Given the description of an element on the screen output the (x, y) to click on. 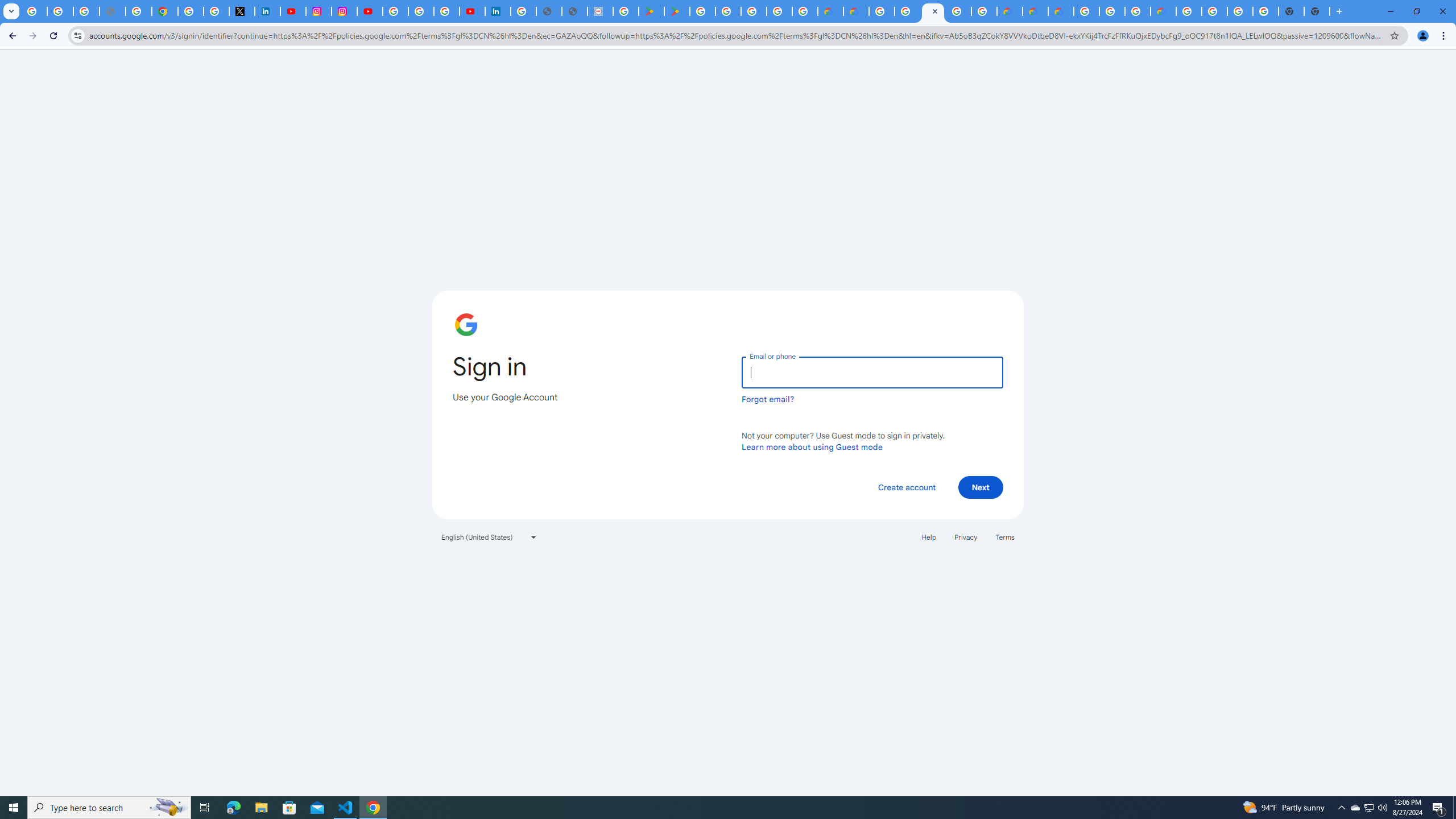
Email or phone (871, 372)
LinkedIn Privacy Policy (266, 11)
Google Workspace - Specific Terms (804, 11)
Google Cloud Service Health (1162, 11)
Google Cloud Platform (1188, 11)
Android Apps on Google Play (651, 11)
Google Workspace - Specific Terms (779, 11)
Sign in - Google Accounts (395, 11)
